Given the description of an element on the screen output the (x, y) to click on. 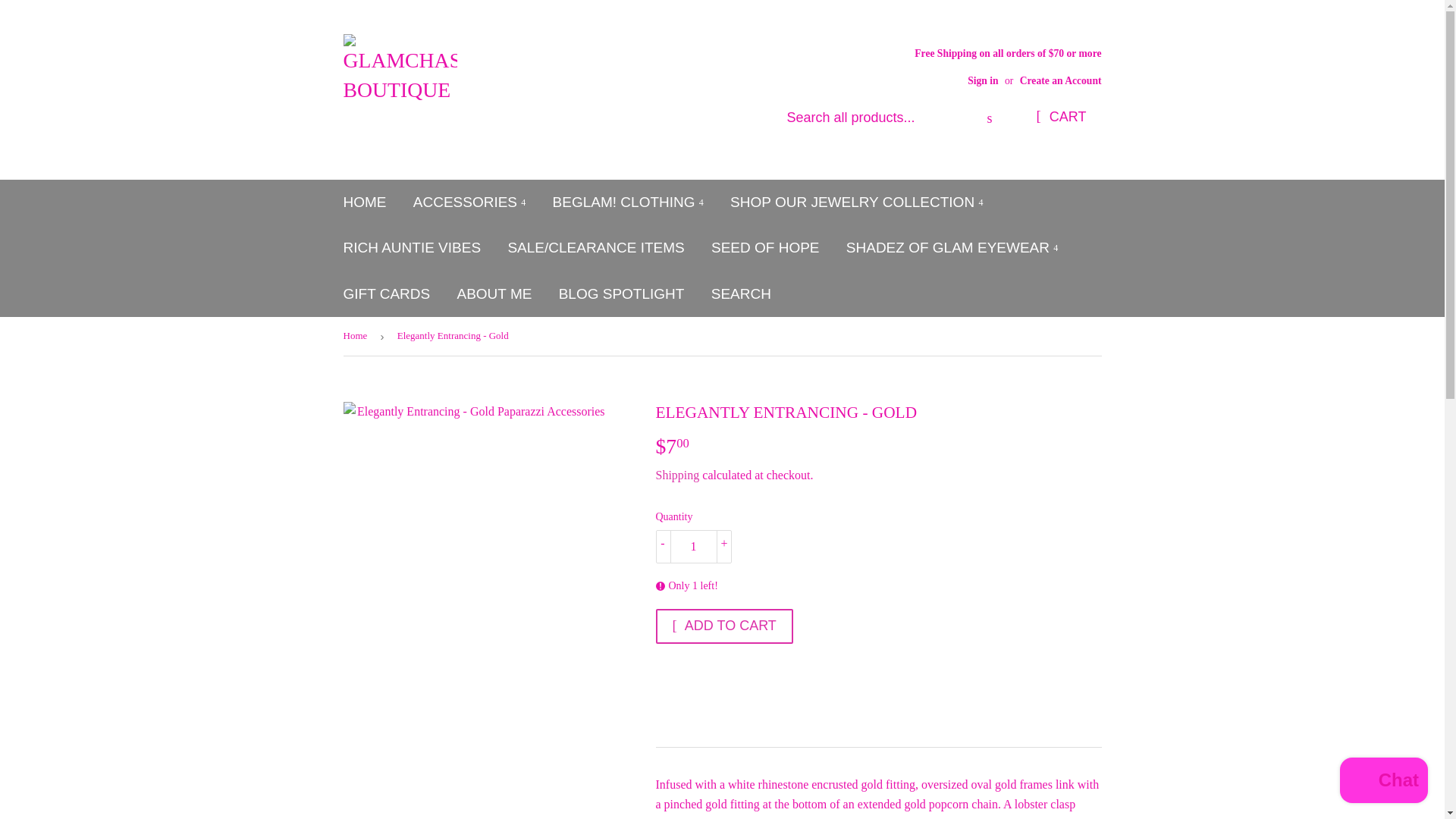
Shopify online store chat (1383, 781)
Create an Account (1061, 80)
Search (989, 118)
Sign in (982, 80)
1 (692, 546)
CART (1060, 117)
